Given the description of an element on the screen output the (x, y) to click on. 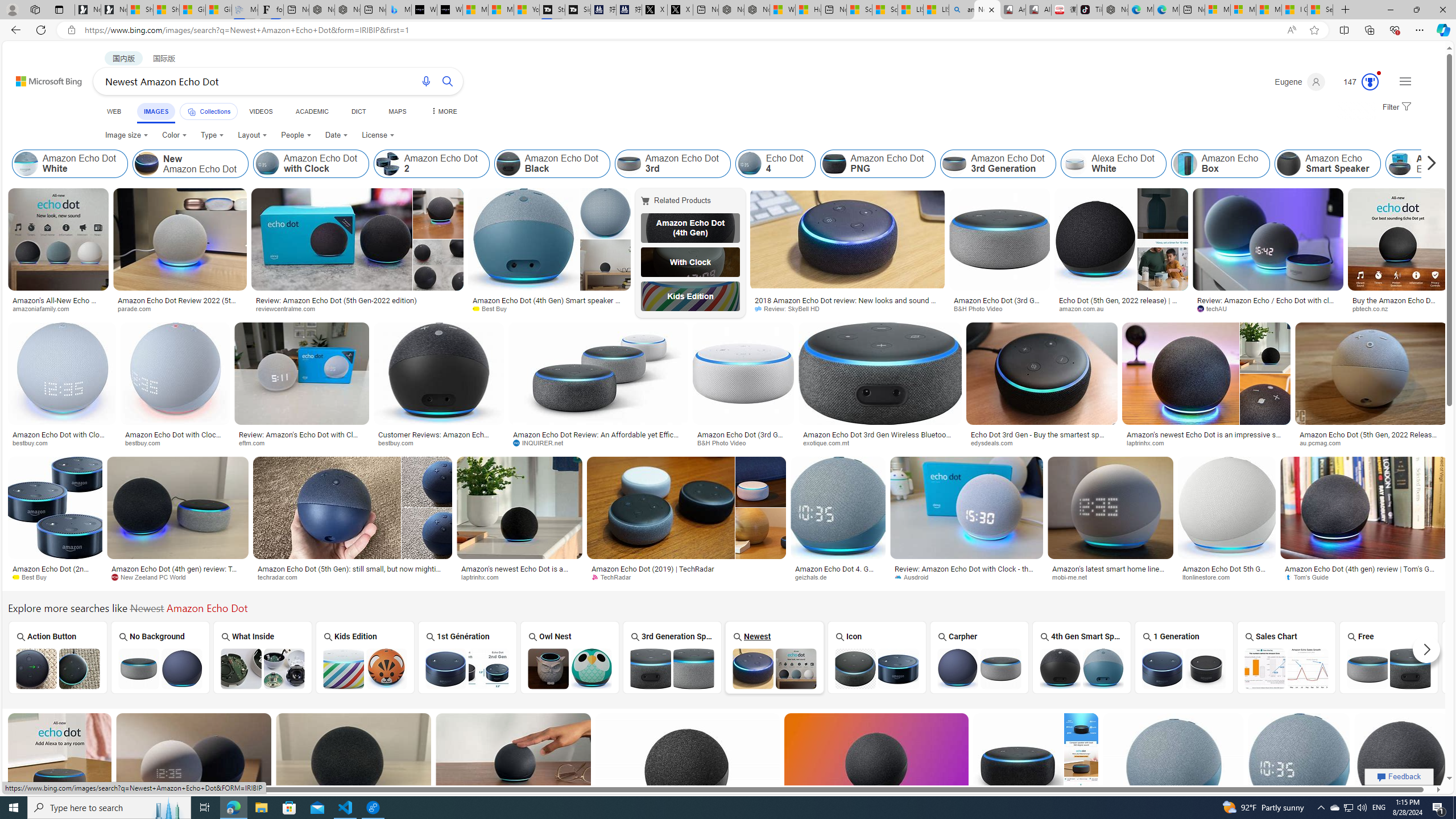
au.pcmag.com (1324, 442)
Best Buy (34, 576)
Amazon Echo Dot (2019) | TechRadarTechRadarSave (688, 521)
ACADEMIC (311, 111)
Free Amazon Echo Dot Free (1388, 656)
Echo Dot 3rd Gen - Buy the smartest speaker in 2020 (1042, 438)
parade.com (137, 308)
Color (173, 135)
techAU (1267, 308)
Amazon Echo Box (1219, 163)
